Given the description of an element on the screen output the (x, y) to click on. 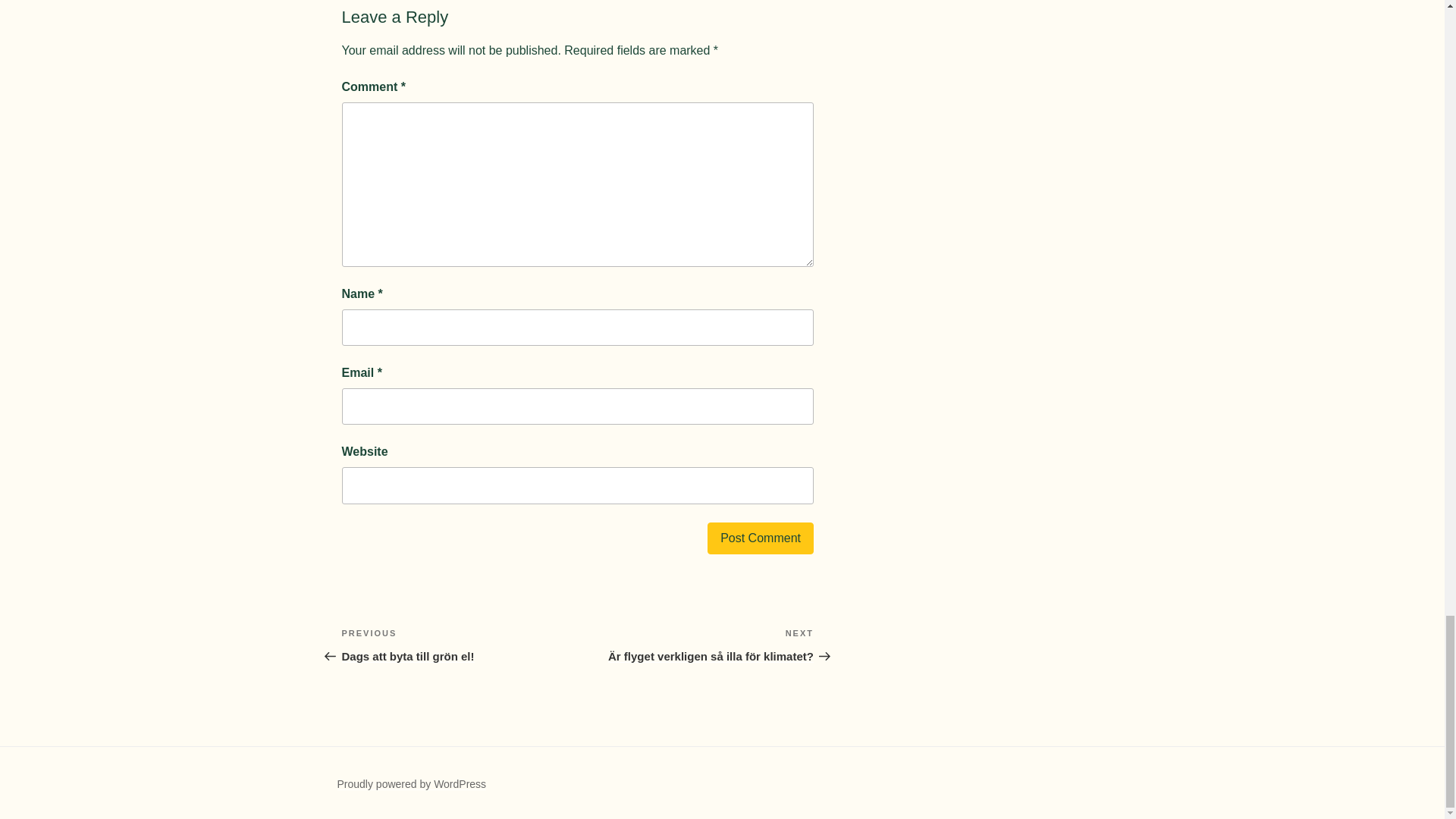
Post Comment (760, 538)
Post Comment (760, 538)
Proudly powered by WordPress (411, 784)
